Given the description of an element on the screen output the (x, y) to click on. 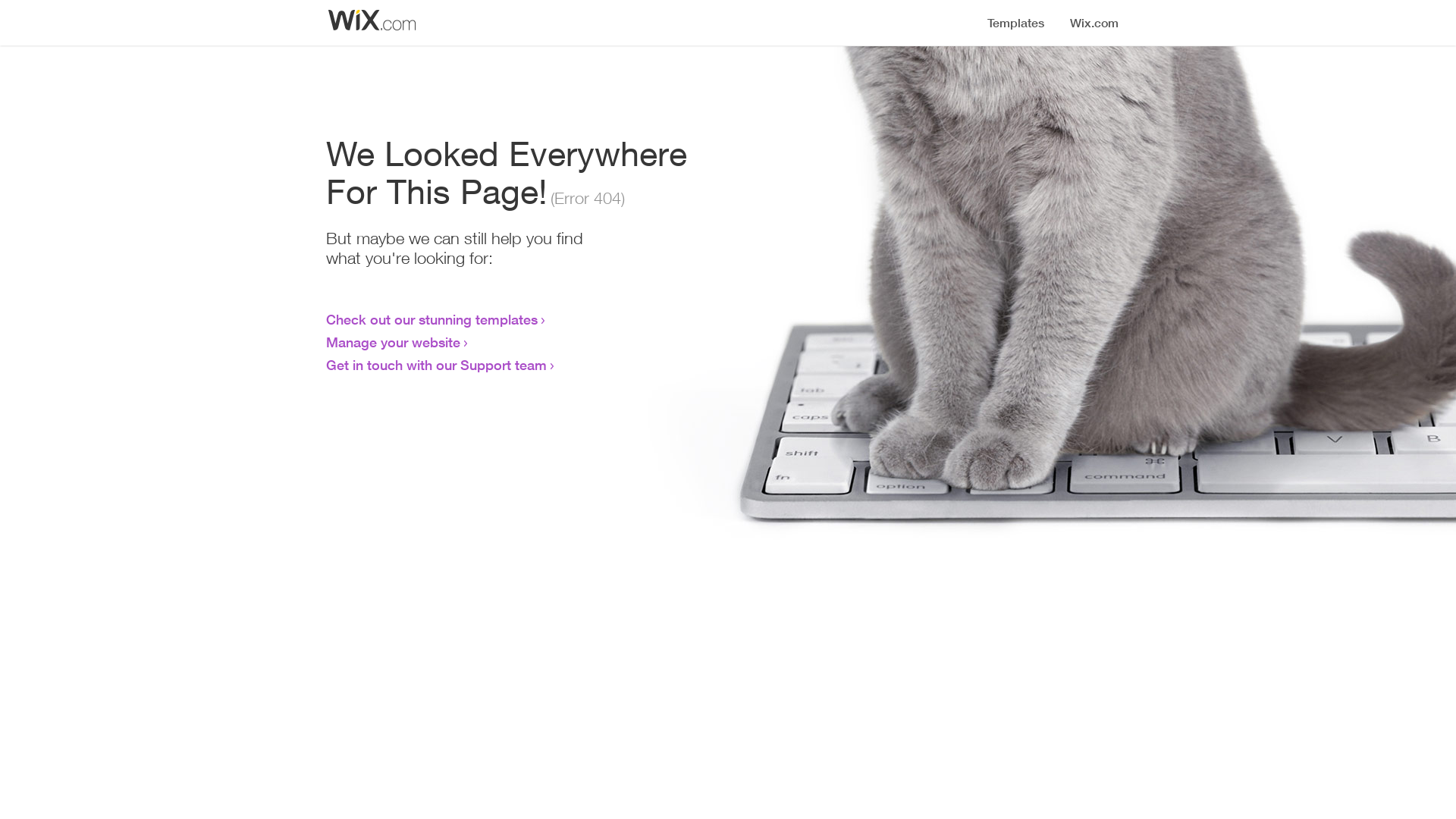
Manage your website Element type: text (393, 341)
Get in touch with our Support team Element type: text (436, 364)
Check out our stunning templates Element type: text (431, 318)
